Given the description of an element on the screen output the (x, y) to click on. 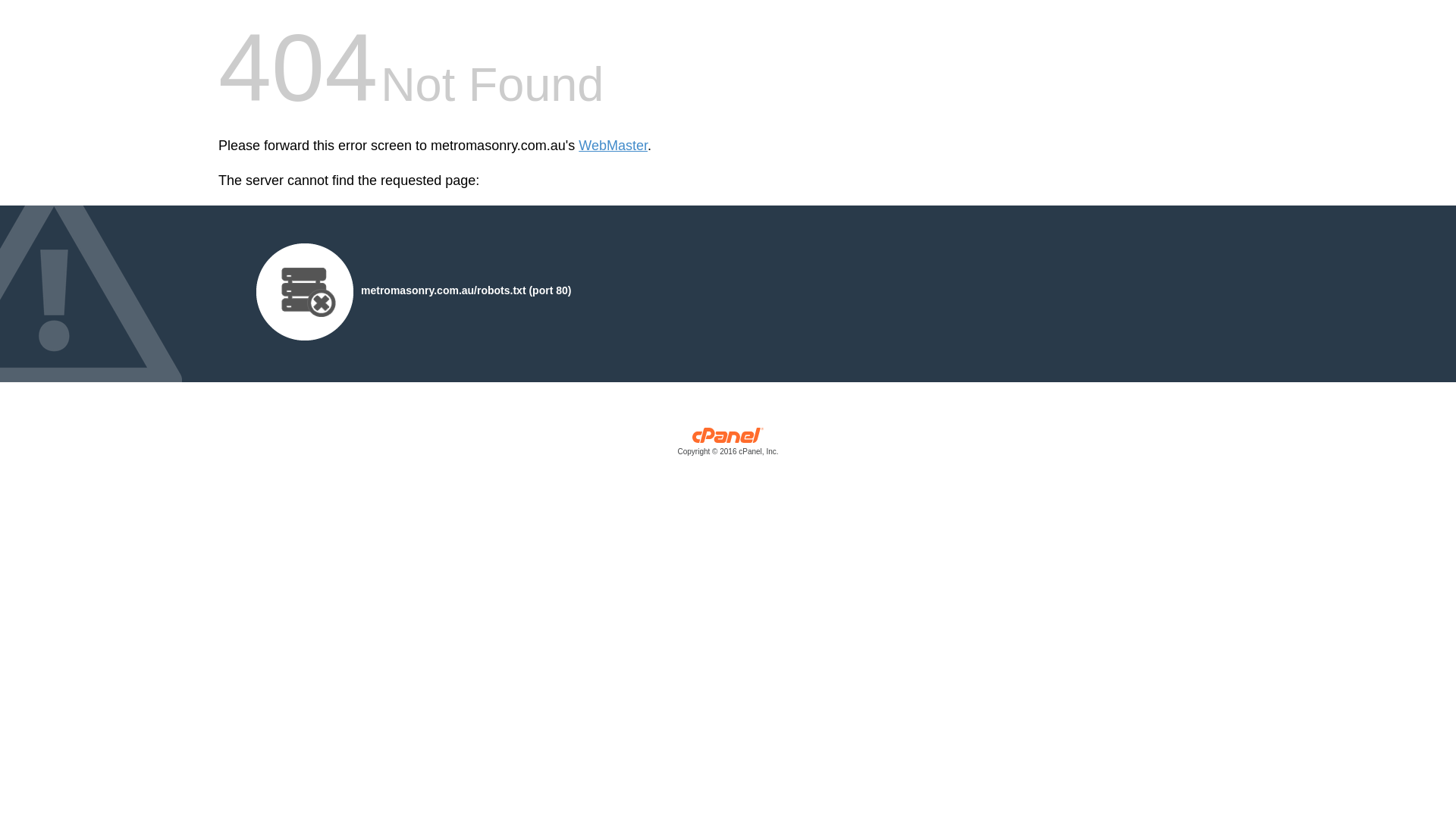
WebMaster Element type: text (612, 145)
